Given the description of an element on the screen output the (x, y) to click on. 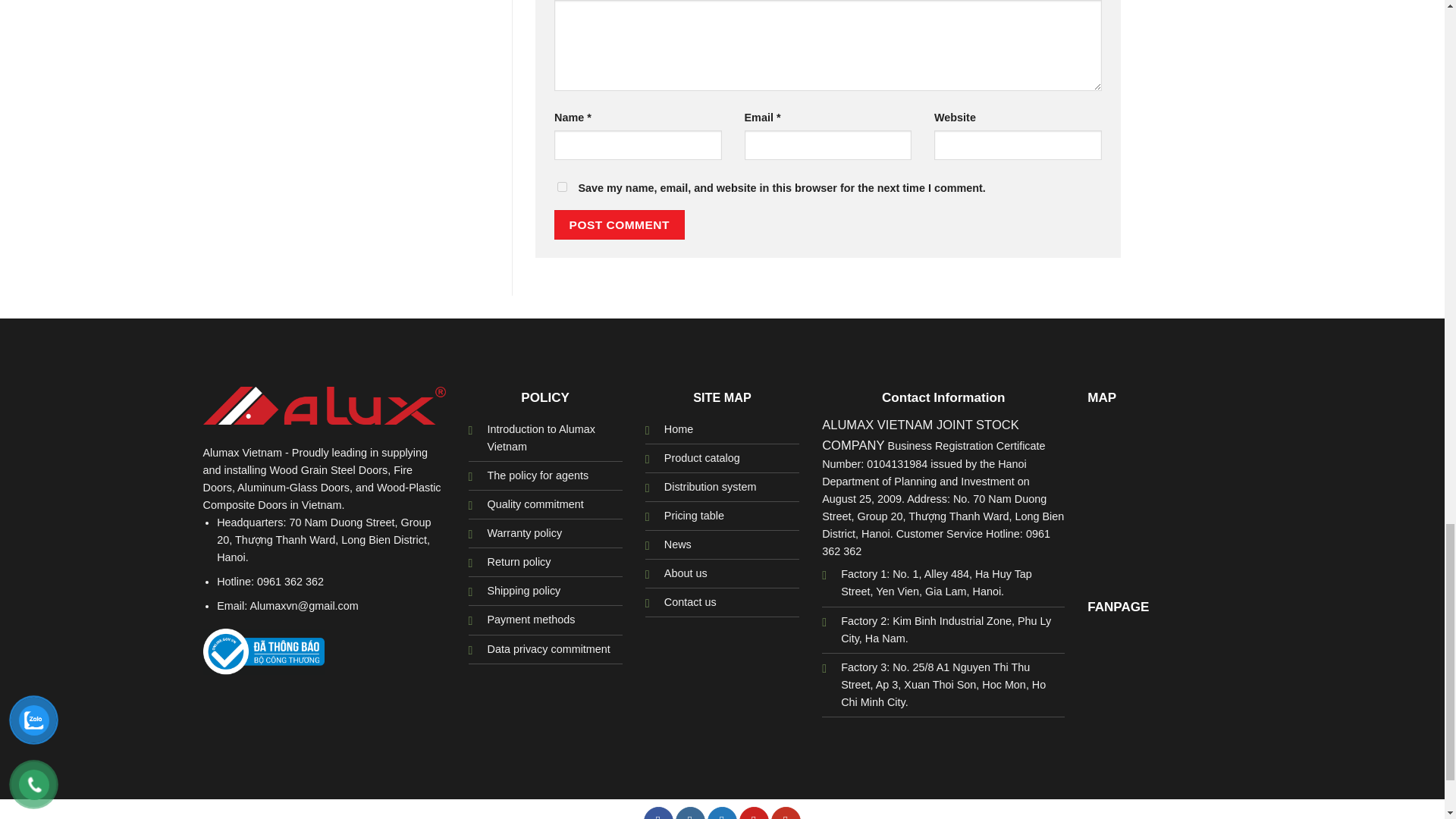
Post Comment (619, 224)
yes (562, 186)
Follow on Facebook (657, 812)
Follow on Instagram (689, 812)
